Given the description of an element on the screen output the (x, y) to click on. 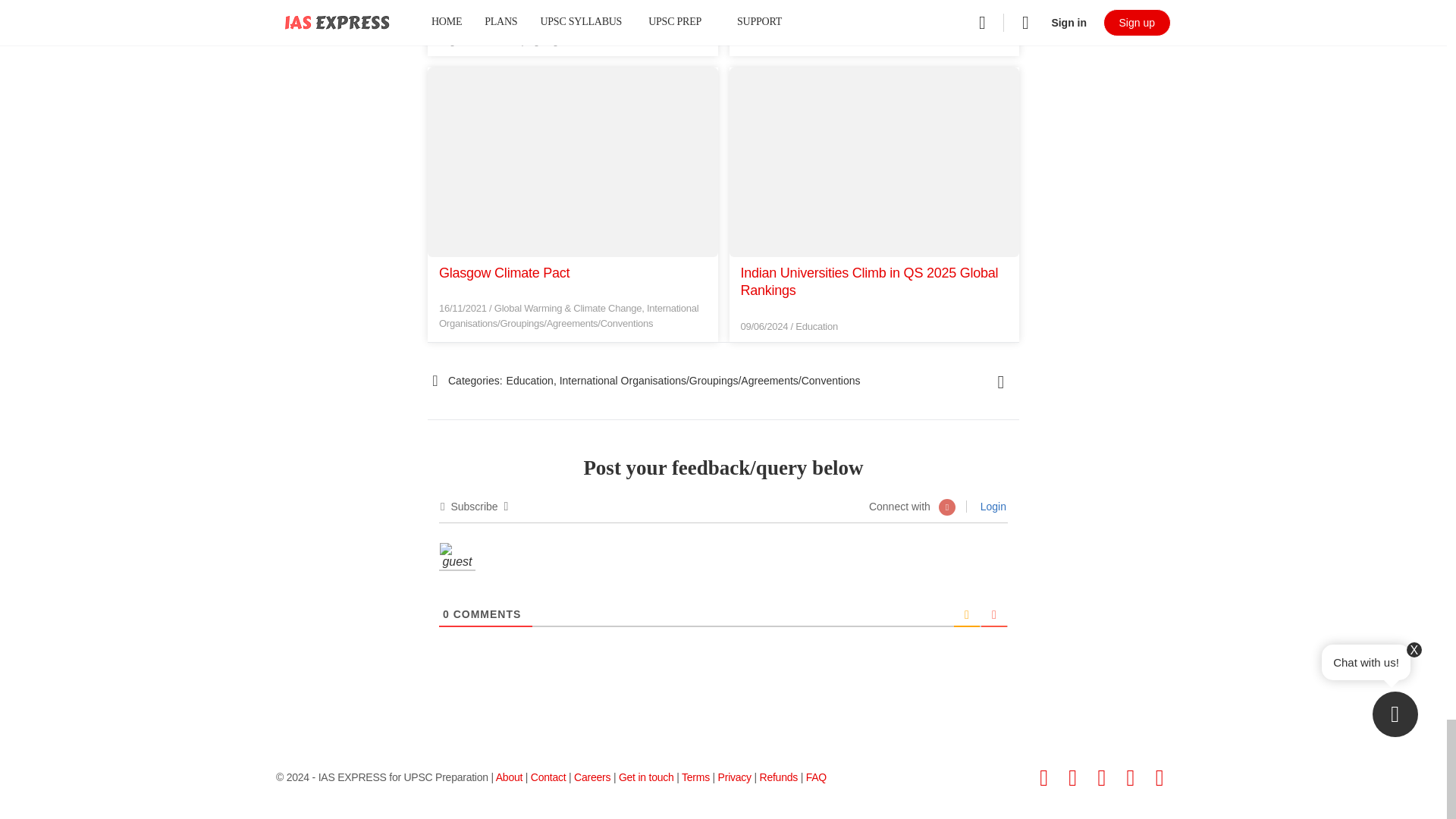
Diseases (514, 25)
